Given the description of an element on the screen output the (x, y) to click on. 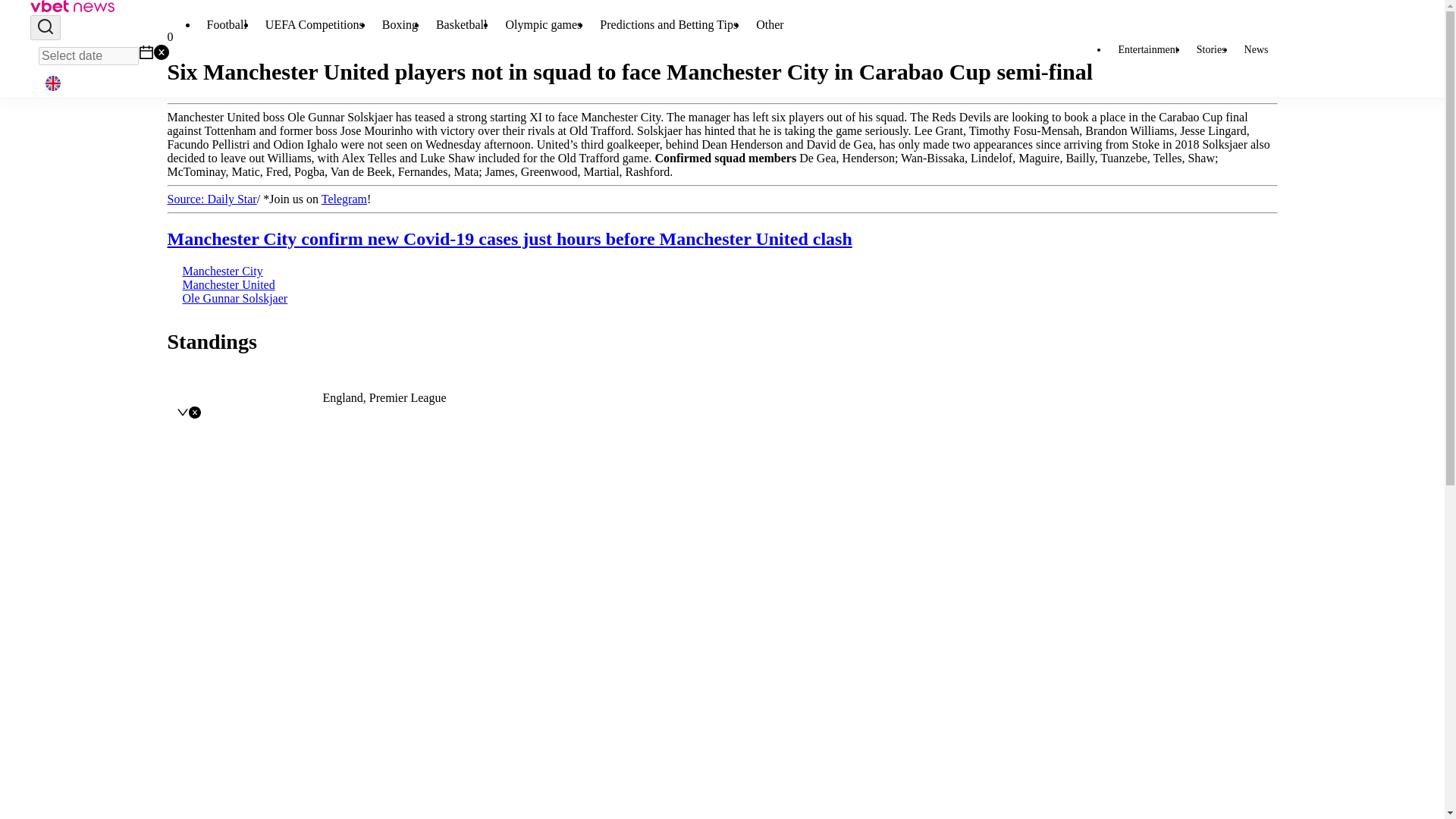
Manchester City (222, 270)
Source: Daily Star (211, 198)
Manchester United (228, 284)
Ole Gunnar Solskjaer (234, 297)
Telegram (343, 198)
England, Premier League (384, 397)
